Given the description of an element on the screen output the (x, y) to click on. 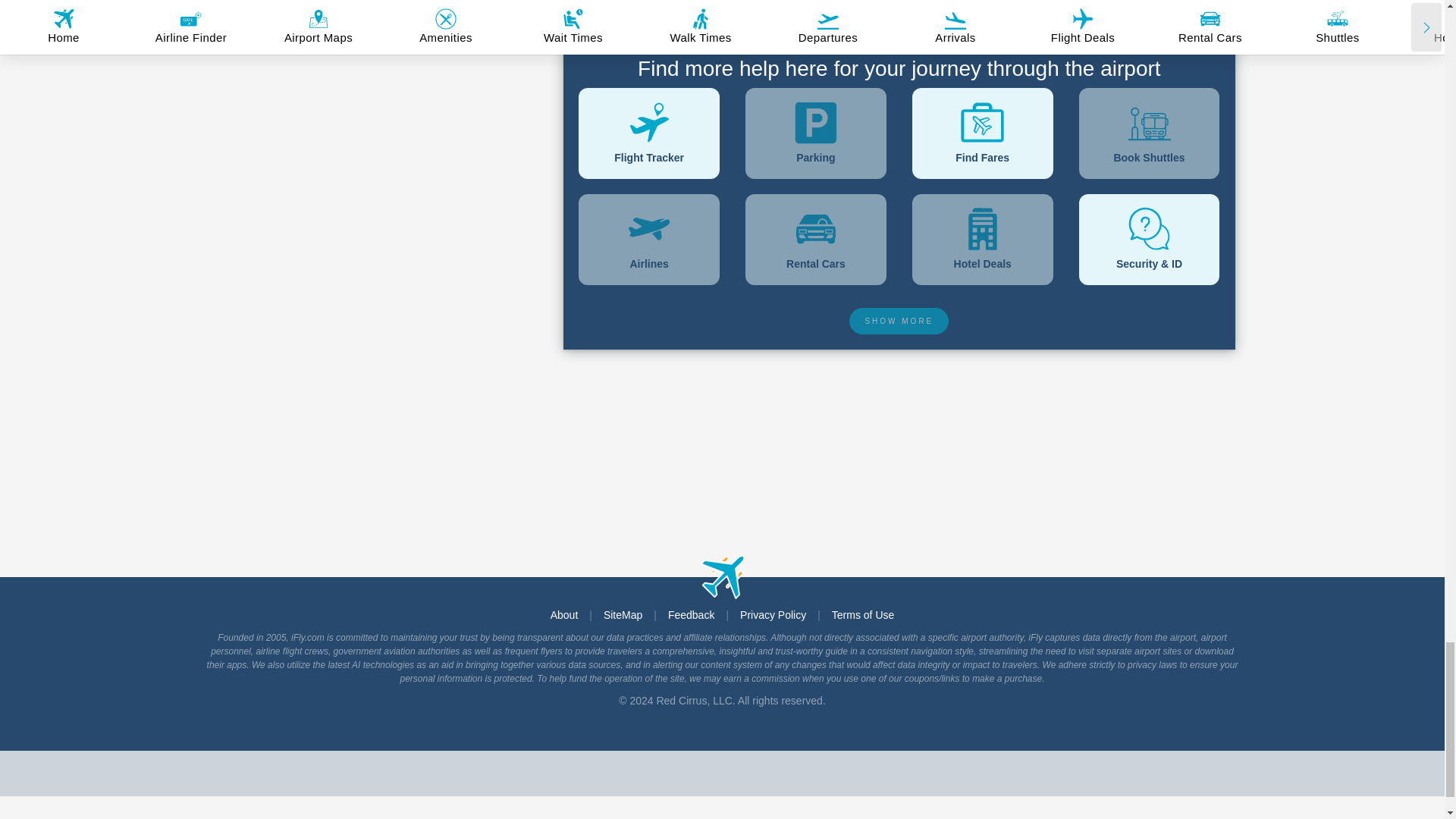
show more (898, 320)
